Given the description of an element on the screen output the (x, y) to click on. 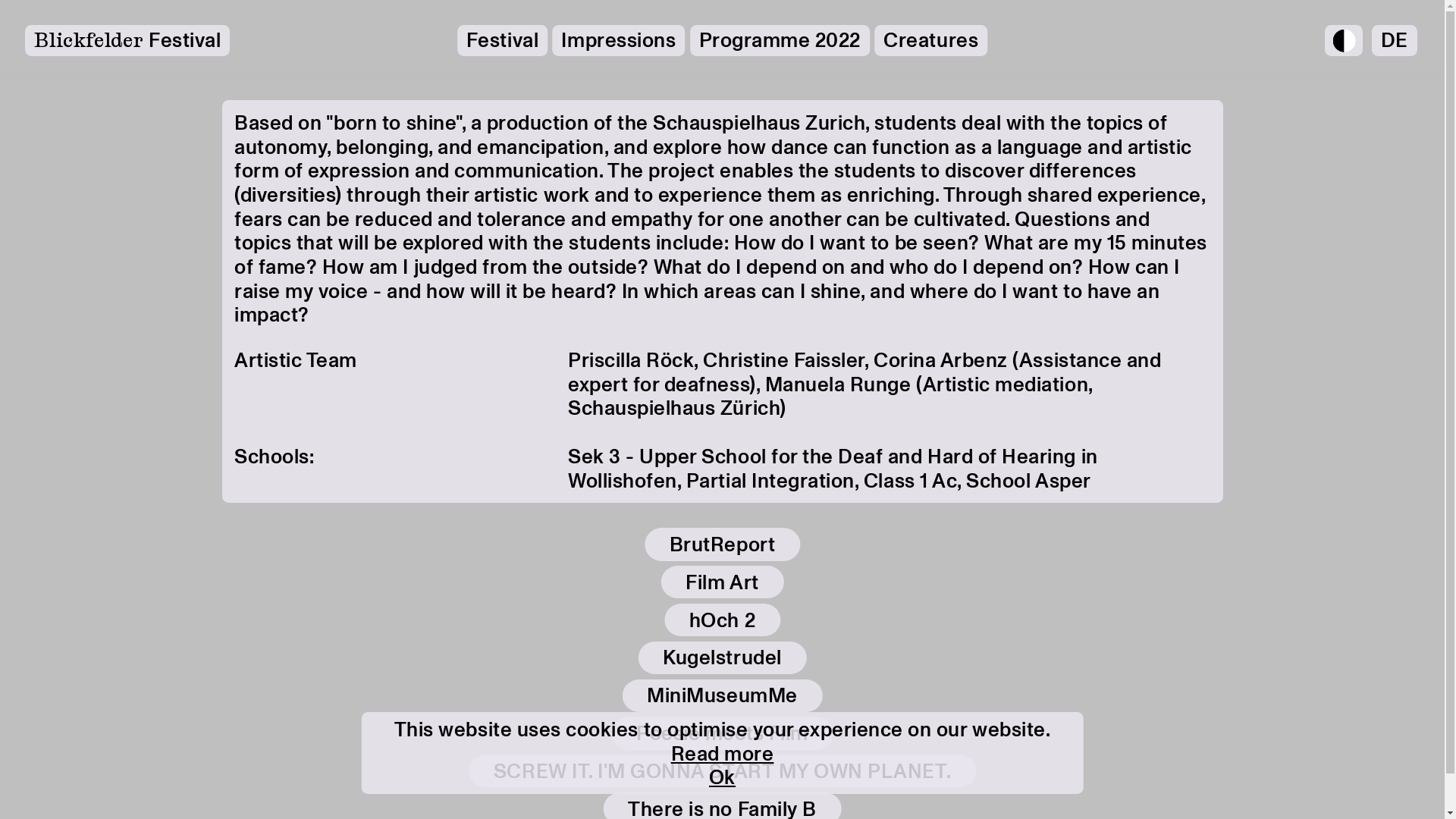
Read more Element type: text (722, 754)
Programme 2022 Element type: text (779, 40)
Ok Element type: text (722, 777)
Festival Element type: text (502, 40)
Blickfelder Festival Element type: text (127, 40)
DE Element type: text (1394, 40)
Creatures Element type: text (930, 40)
Impressions Element type: text (618, 40)
